Given the description of an element on the screen output the (x, y) to click on. 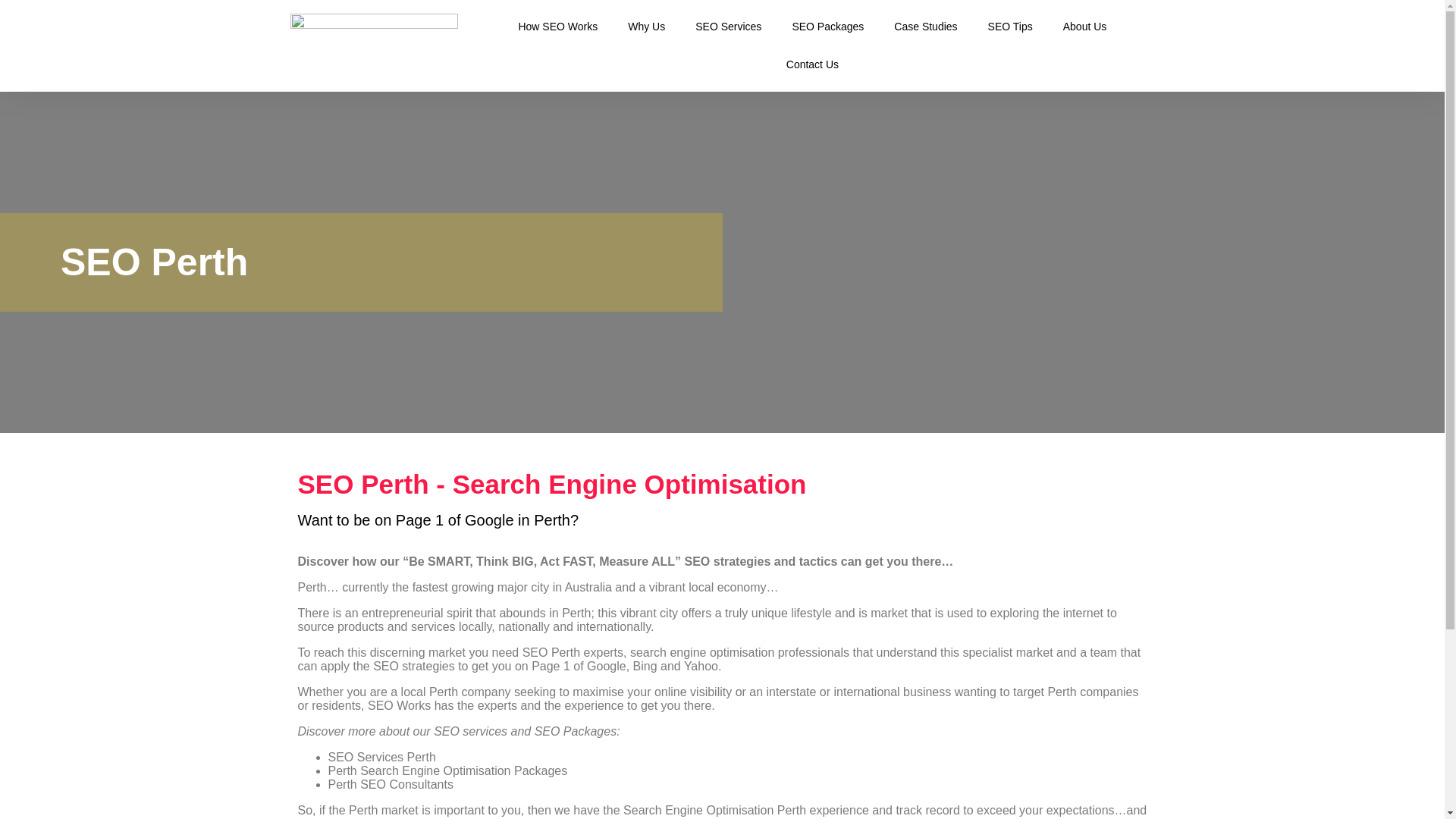
Contact Us (812, 64)
SEO Services (727, 26)
SEO Tips (1010, 26)
How SEO Works (557, 26)
Why Us (645, 26)
Case Studies (925, 26)
SEO Packages (827, 26)
About Us (1085, 26)
